Given the description of an element on the screen output the (x, y) to click on. 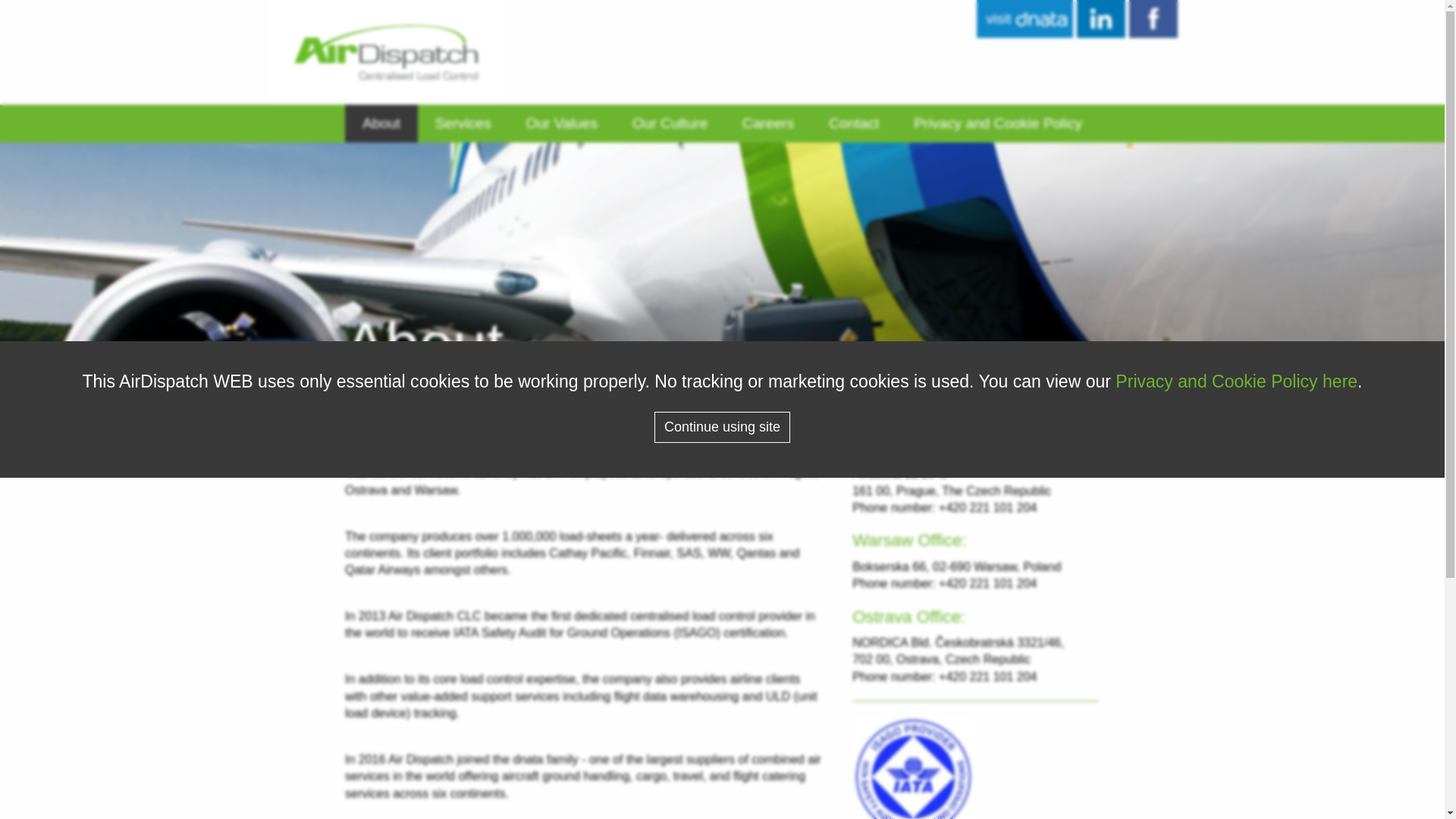
Our Culture (669, 123)
About (381, 123)
Our Culture (669, 123)
visit (1023, 18)
Our Values (561, 123)
Services (462, 123)
About (381, 123)
Privacy and Cookie Policy (997, 123)
Contact (853, 123)
Careers (767, 123)
Services (462, 123)
Our Values (561, 123)
